Given the description of an element on the screen output the (x, y) to click on. 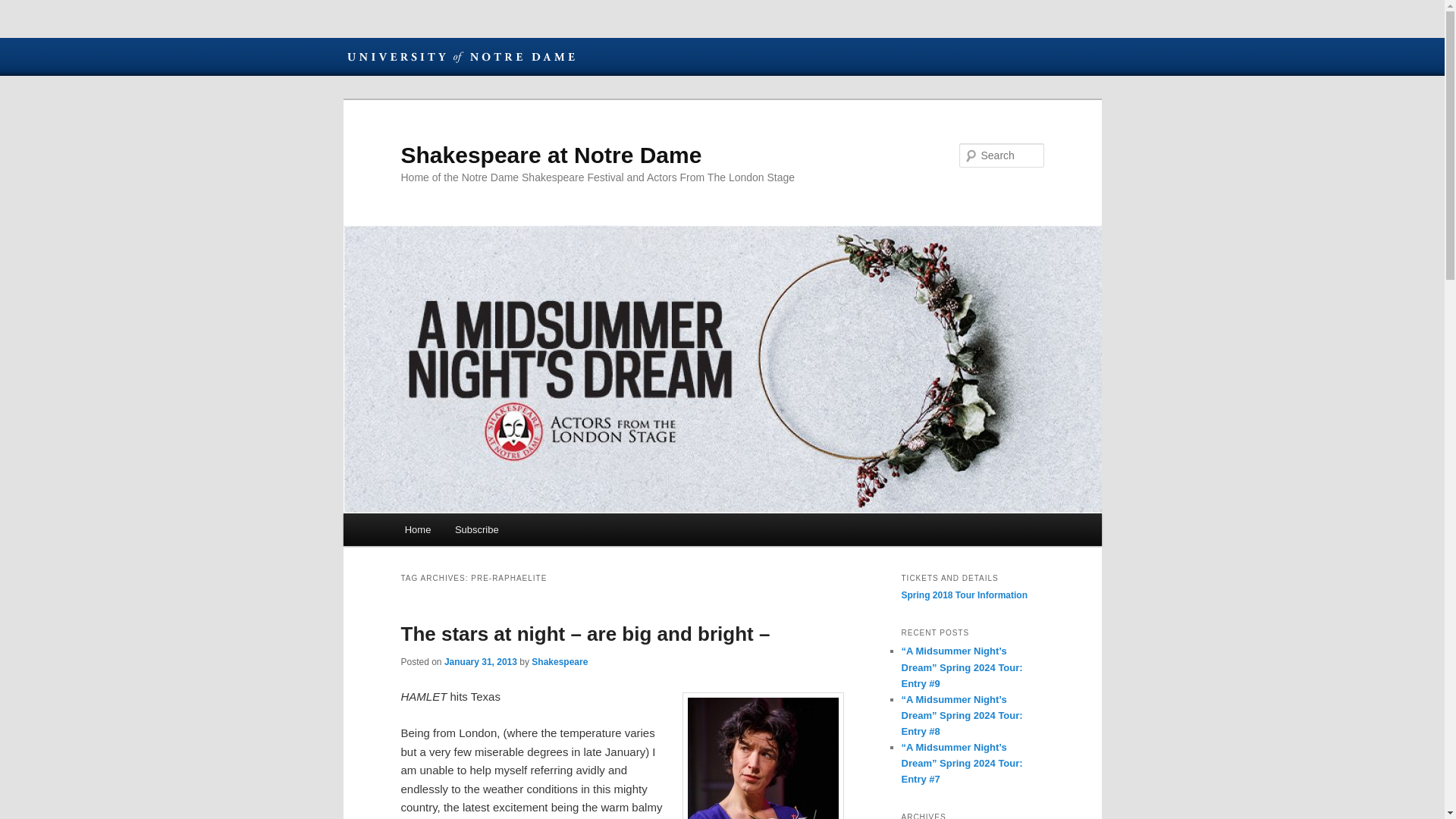
Search (24, 8)
Shakespeare (559, 661)
Shakespeare at Notre Dame (550, 154)
Spring 2018 Tour Information (963, 594)
January 31, 2013 (480, 661)
9:24 am (480, 661)
View all posts by Shakespeare (559, 661)
ShunaSnow (763, 755)
Subscribe (476, 529)
University of Notre Dame (460, 56)
Home (417, 529)
